Given the description of an element on the screen output the (x, y) to click on. 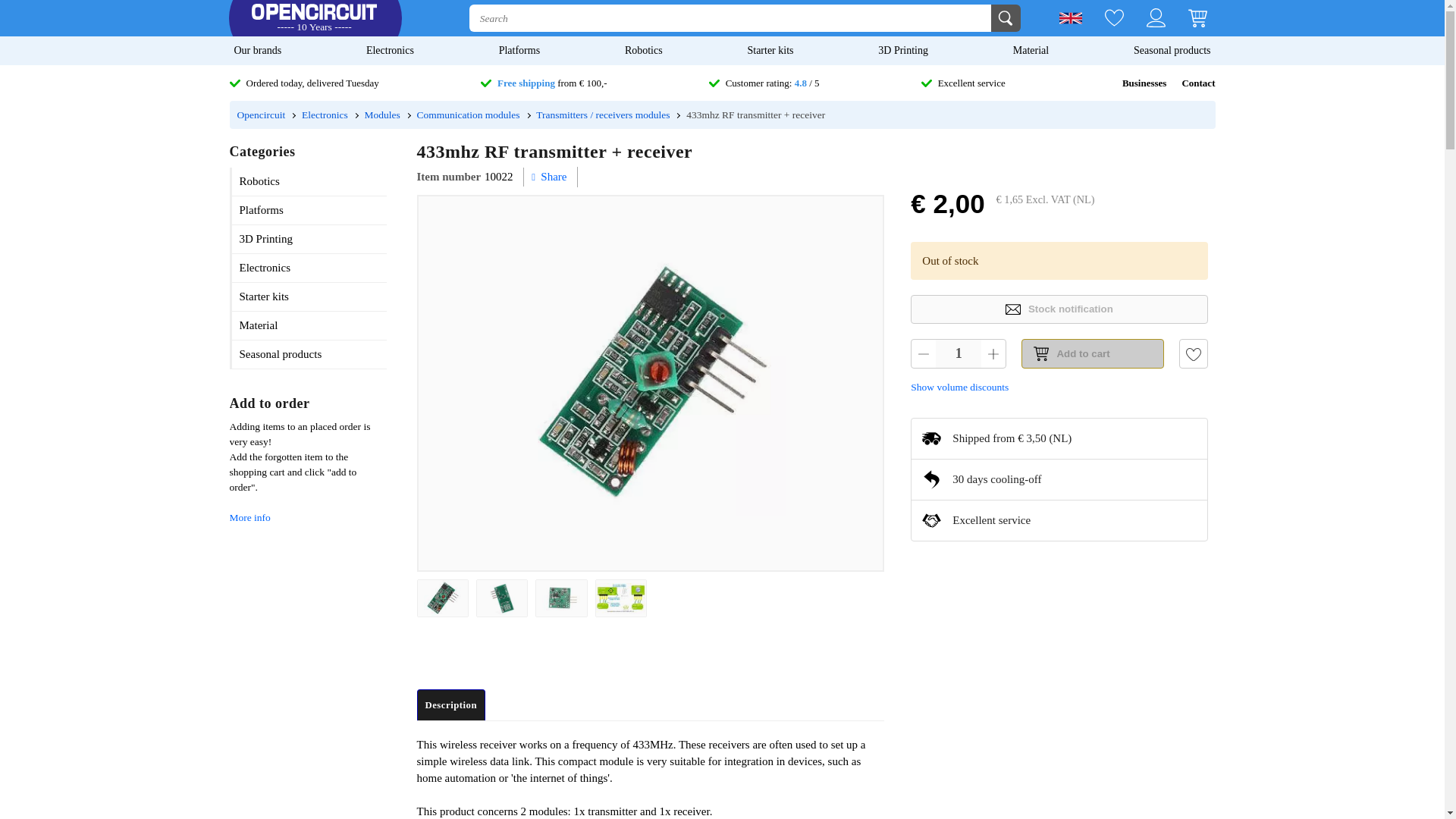
Opencircuit (313, 18)
Starter kits (769, 50)
Communication modules (467, 114)
Our brands (256, 50)
Excellent service (963, 82)
Seasonal products (1171, 50)
Electronics (390, 50)
Robotics (643, 50)
Shoppingcart (1186, 18)
3D Printing (903, 50)
Contact (1197, 82)
Opencircuit (260, 114)
Platforms (519, 50)
Businesses (1144, 82)
Wishlist (1102, 18)
